Given the description of an element on the screen output the (x, y) to click on. 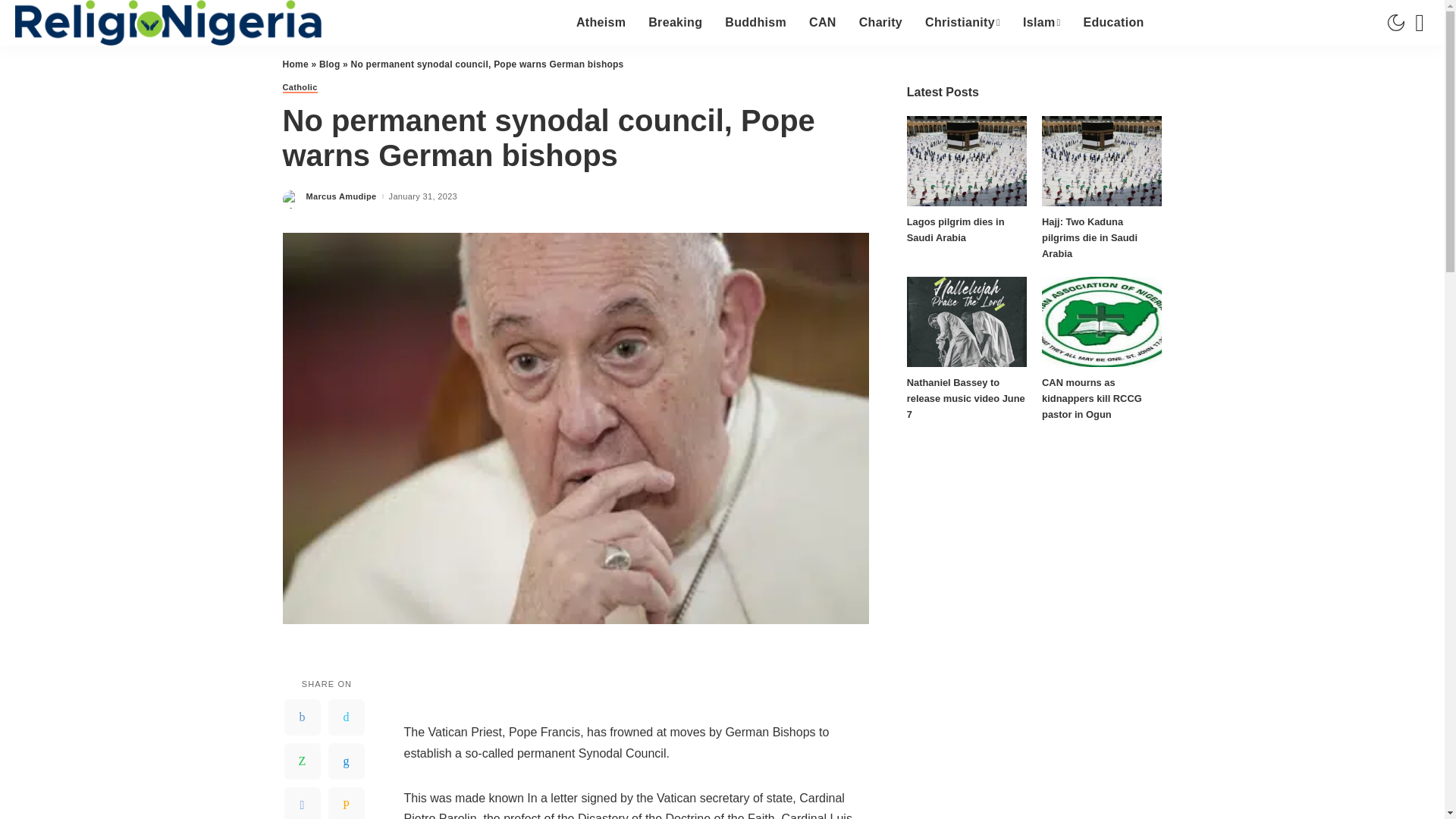
CAN (822, 22)
Breaking (675, 22)
Religion Nigeria (167, 22)
Buddhism (755, 22)
Charity (880, 22)
Atheism (600, 22)
